Given the description of an element on the screen output the (x, y) to click on. 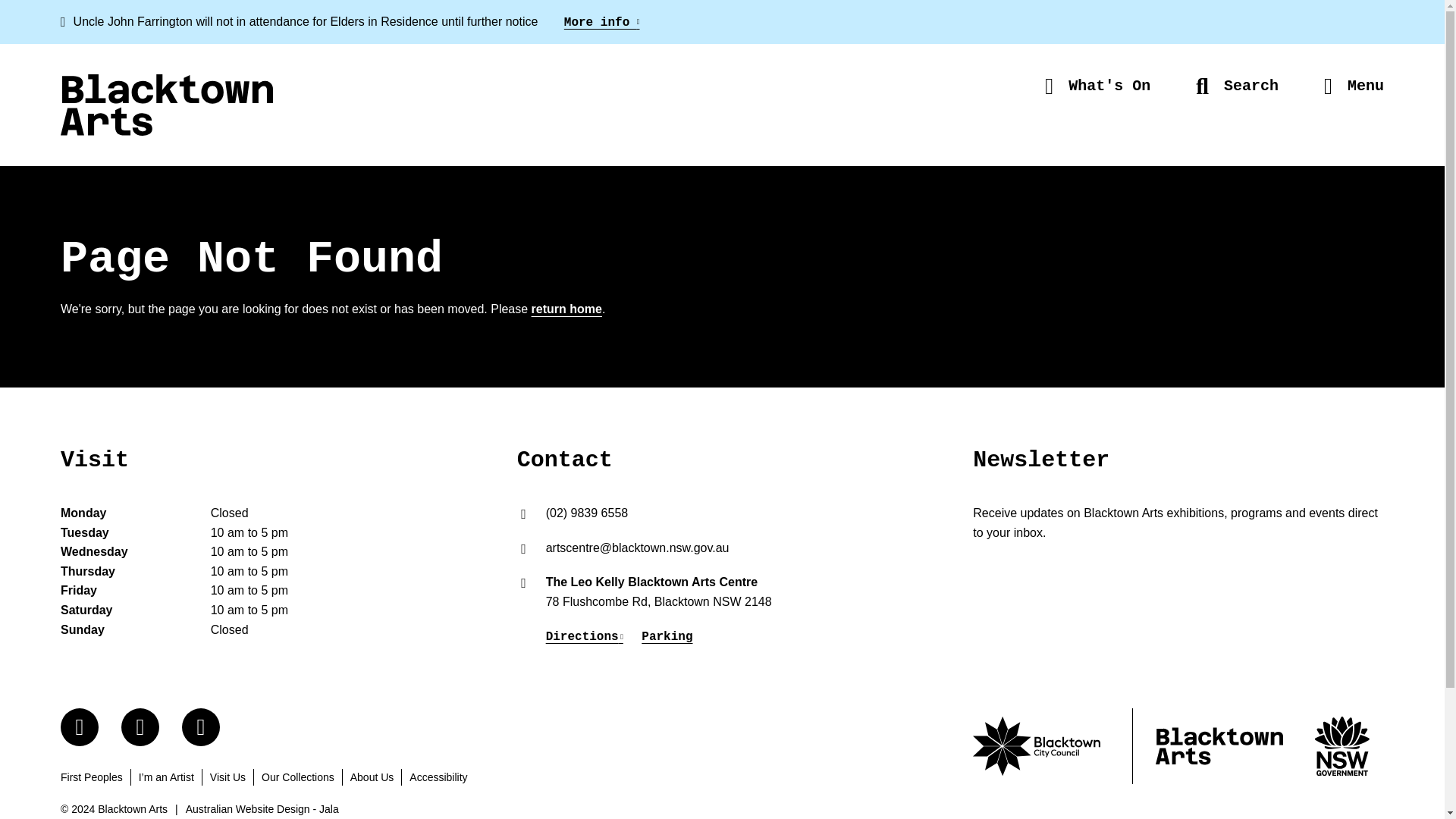
Our Collections (298, 776)
Facebook (80, 727)
More info (602, 22)
Menu (1353, 86)
YouTube (200, 727)
First Peoples (91, 776)
Go to What's On (1097, 86)
About Us (372, 776)
return home (566, 309)
Jala Design (262, 808)
